Given the description of an element on the screen output the (x, y) to click on. 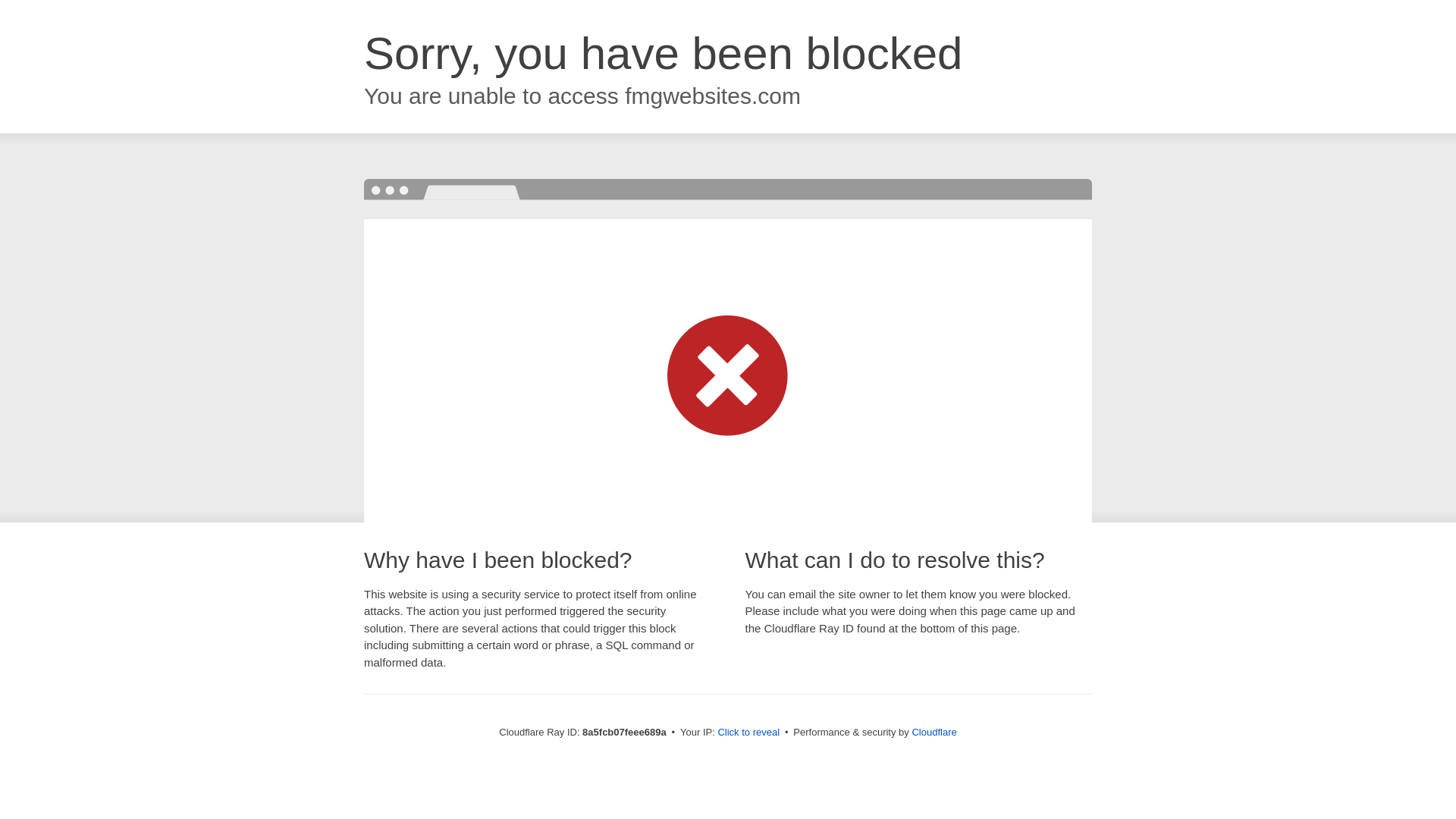
Click to reveal (747, 732)
Cloudflare (933, 731)
